Given the description of an element on the screen output the (x, y) to click on. 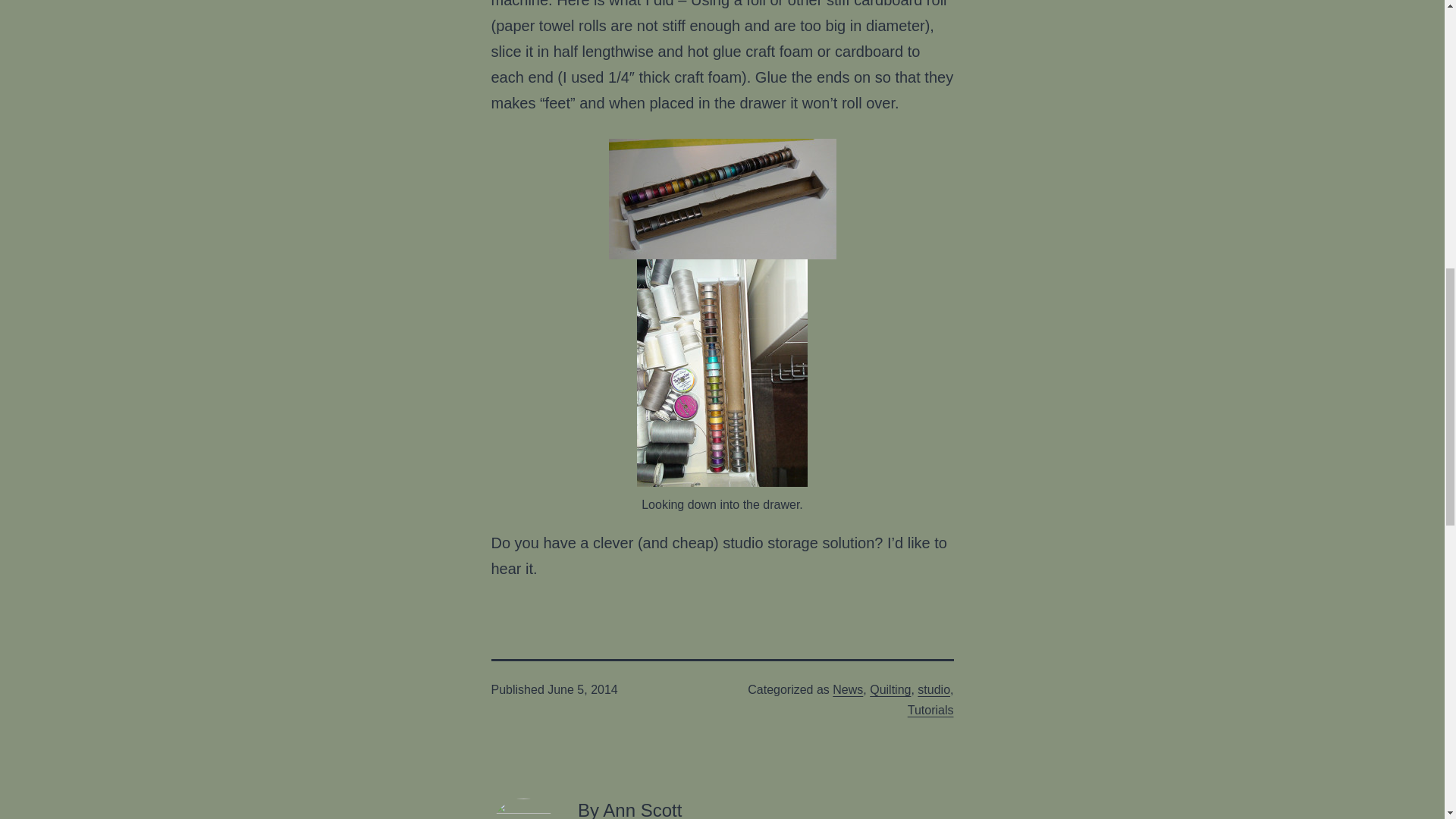
studio (933, 689)
News (847, 689)
Tutorials (930, 709)
Quilting (890, 689)
